Given the description of an element on the screen output the (x, y) to click on. 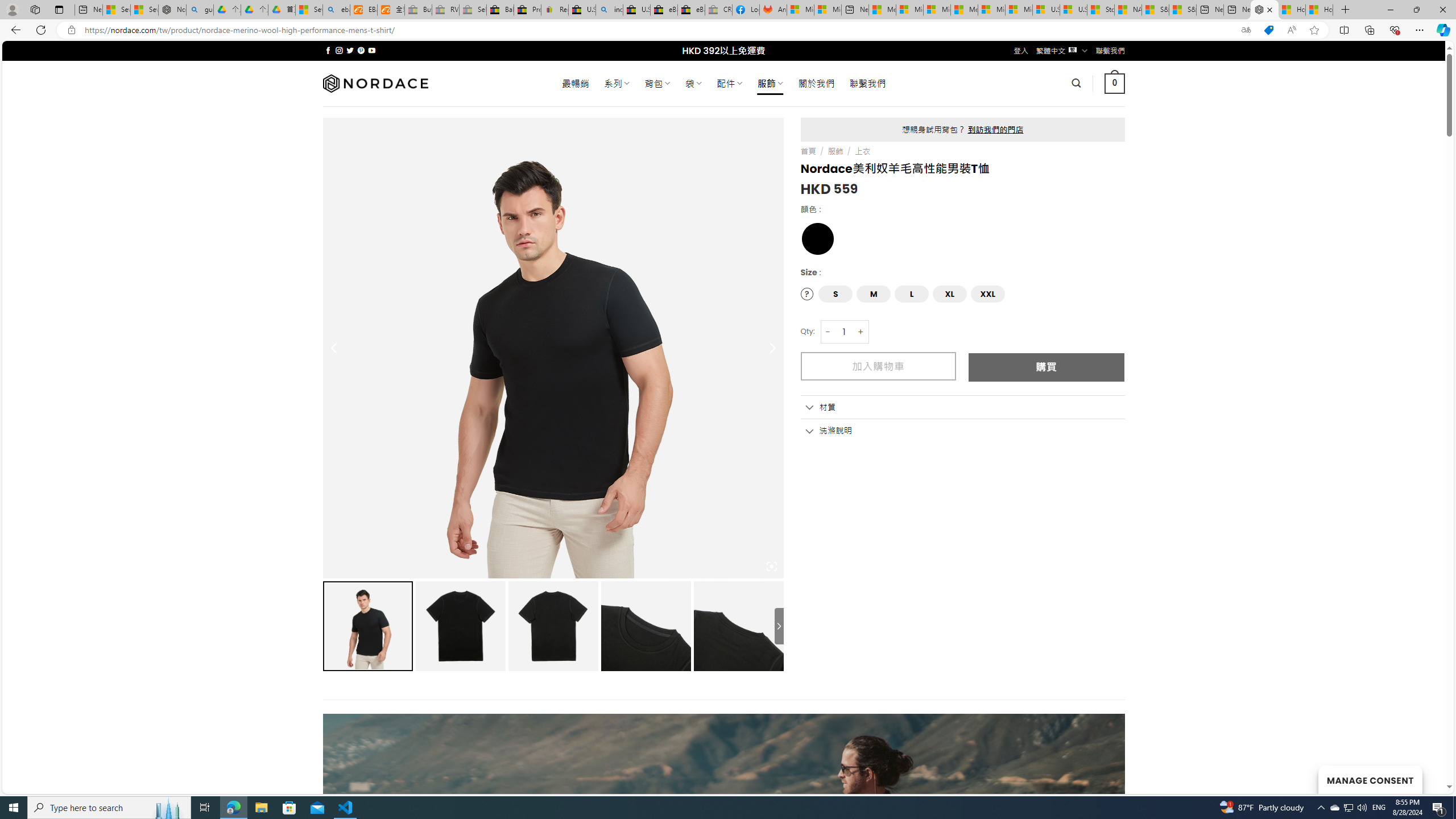
ebay - Search (336, 9)
guge yunpan - Search (200, 9)
MANAGE CONSENT (1369, 779)
Follow on Twitter (349, 50)
Follow on Facebook (327, 50)
